Given the description of an element on the screen output the (x, y) to click on. 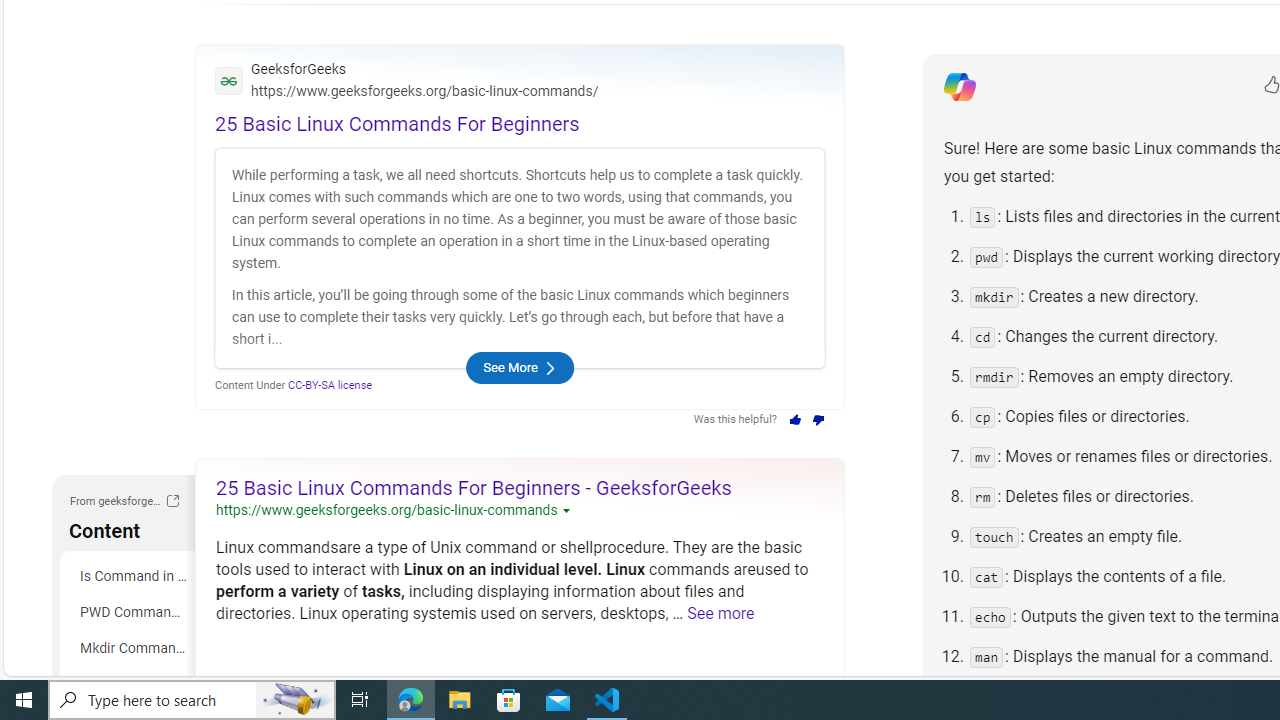
CD Command in Linux (130, 684)
PWD Command in Linux (130, 612)
Thumbs down (818, 419)
See More (519, 367)
Thumbs up (794, 419)
CC-BY-SA license (330, 384)
25 Basic Linux Commands For Beginners (397, 124)
Actions for this site (568, 511)
25 Basic Linux Commands For Beginners - GeeksforGeeks (474, 487)
From geeksforgeeks.org (172, 500)
